Given the description of an element on the screen output the (x, y) to click on. 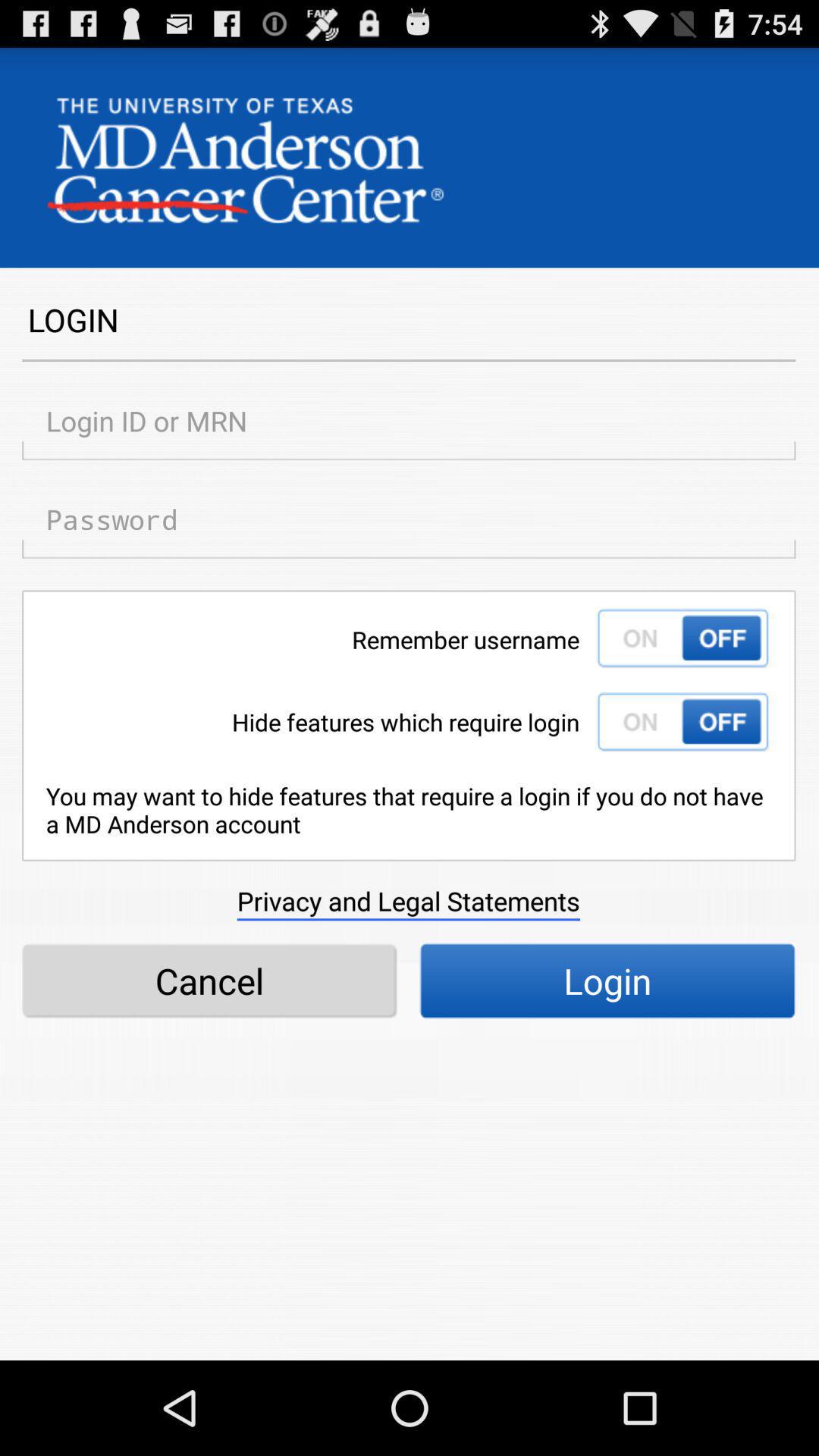
tap icon next to the login icon (209, 980)
